Given the description of an element on the screen output the (x, y) to click on. 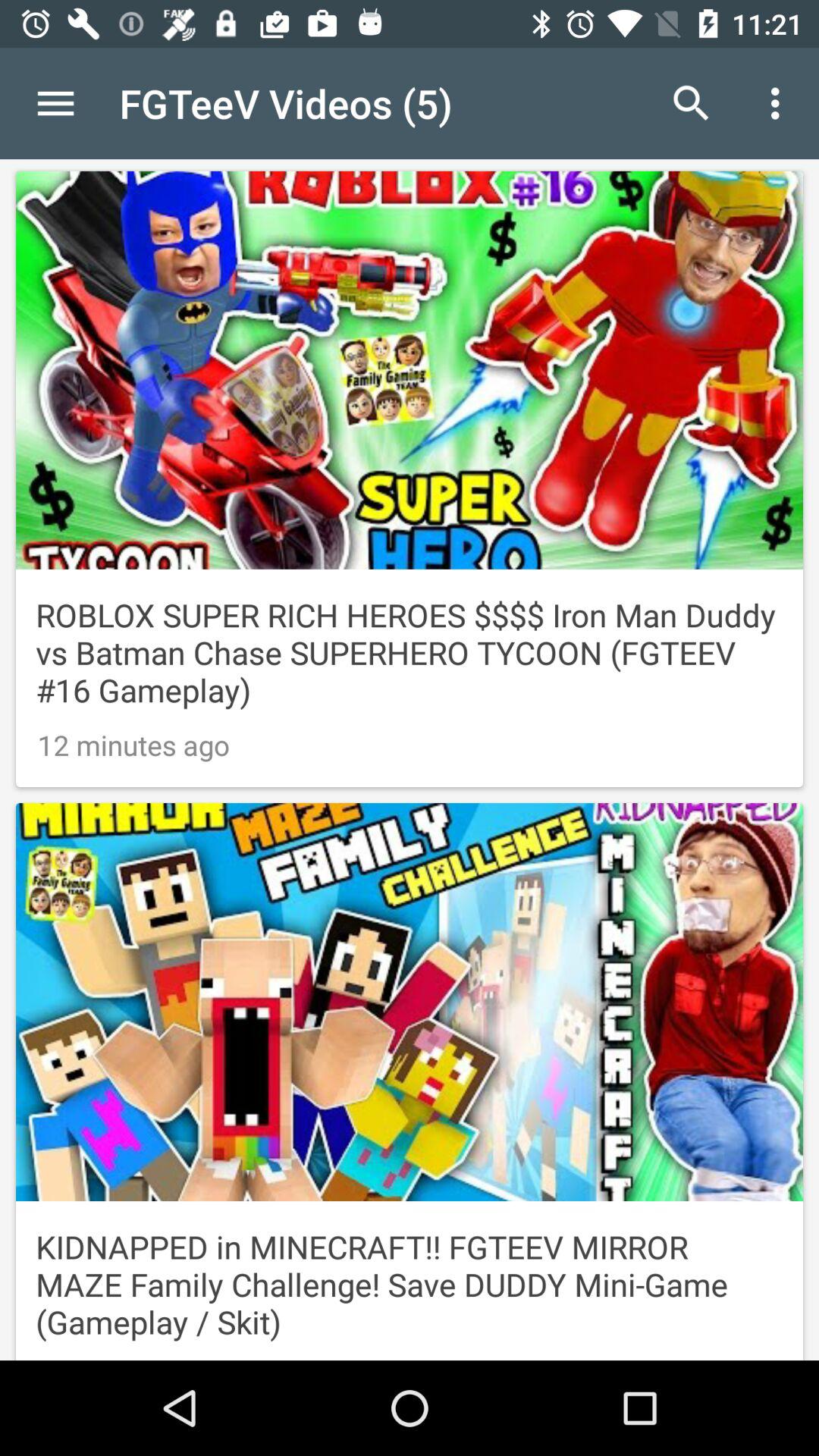
select the icon to the right of the fgteev videos (5) app (691, 103)
